Given the description of an element on the screen output the (x, y) to click on. 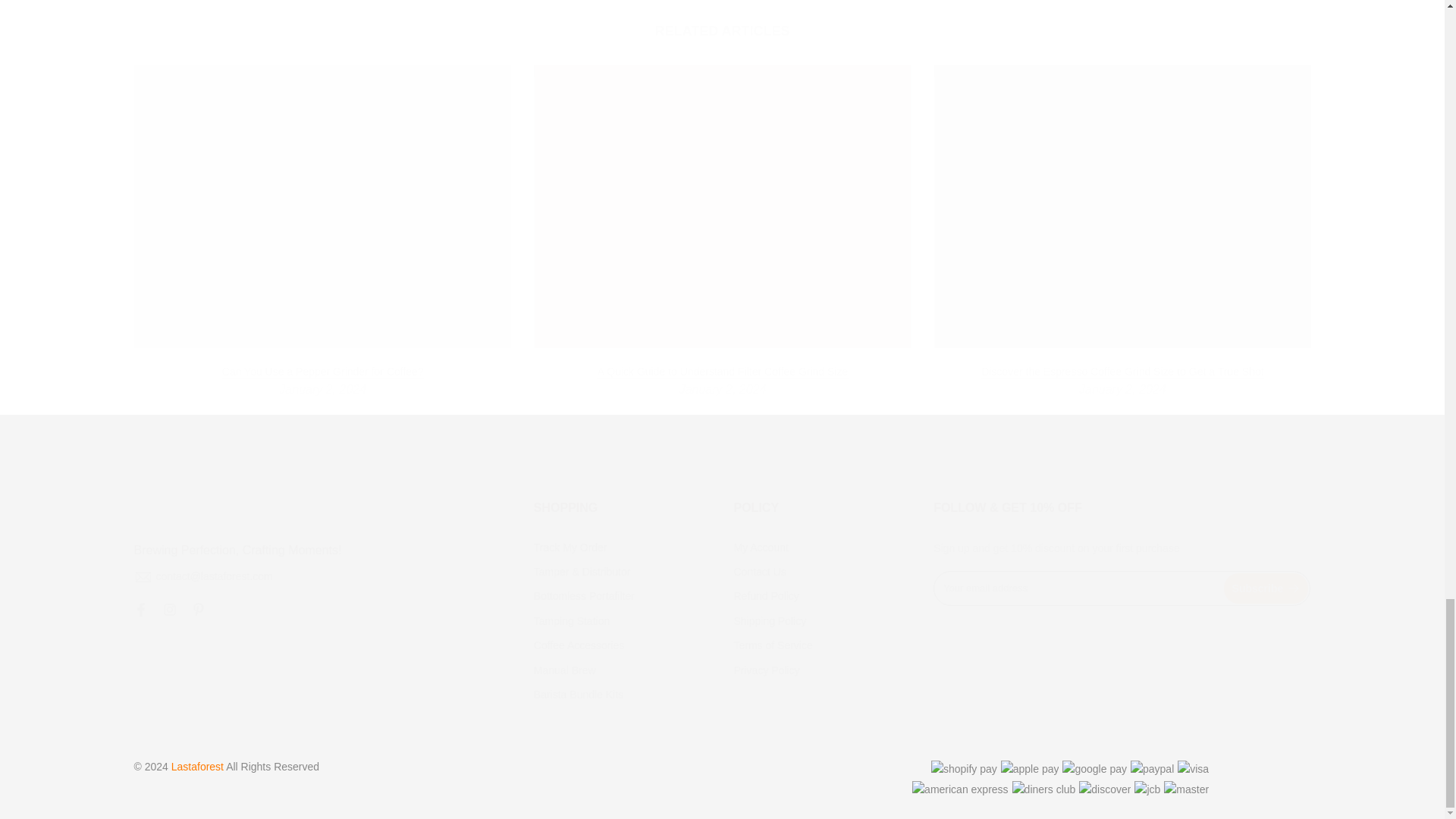
A Quick Guide to Understand Filter Coffee Grind Size (721, 372)
Can You Use a Pepper Grinder for Coffee? (322, 372)
Discover the Espresso Coffee Grind Size to Get a True Shot (1122, 372)
